Given the description of an element on the screen output the (x, y) to click on. 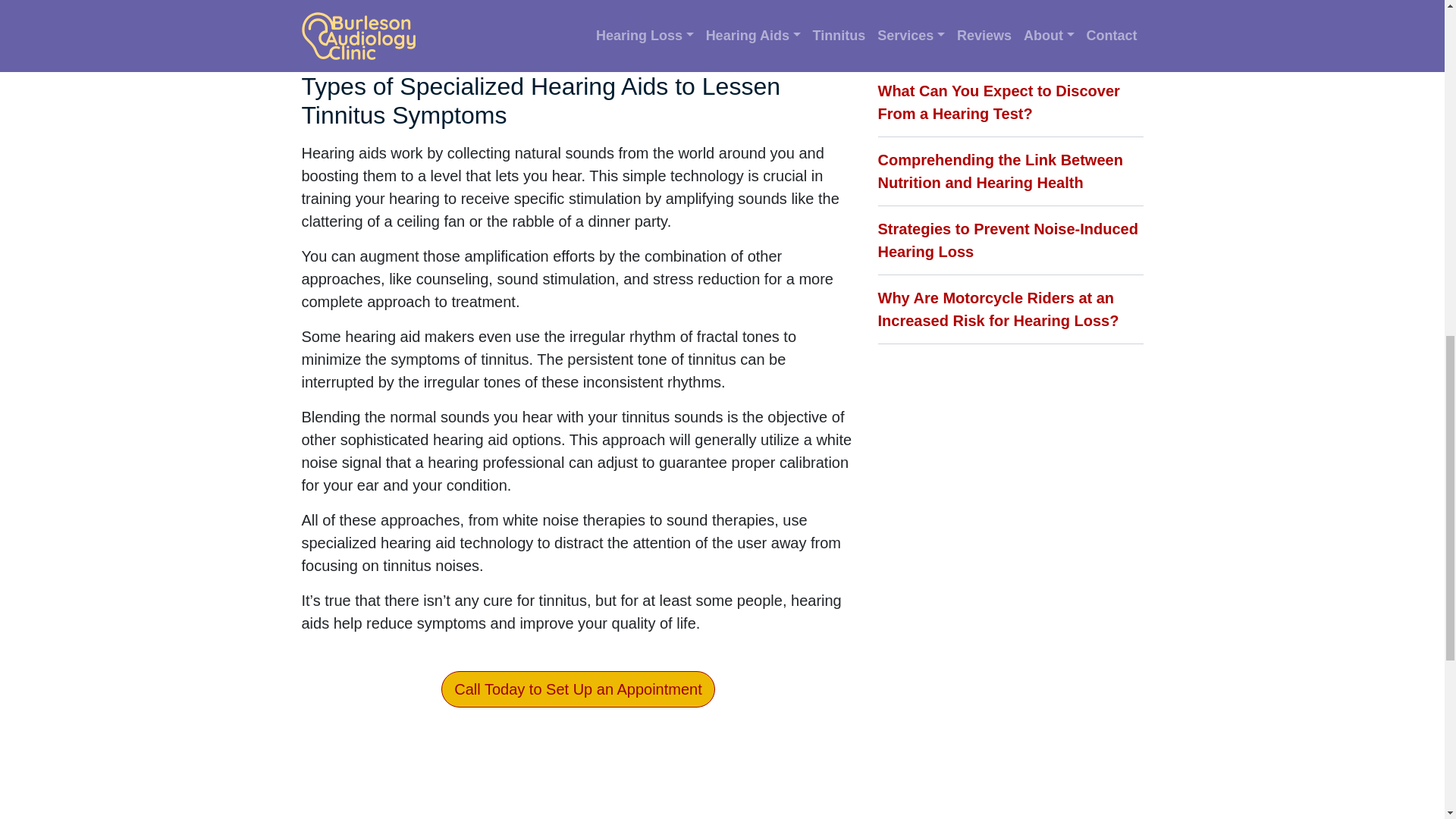
Can Your Lifespan be Affected by Hearing Loss? (997, 33)
Call Today to Set Up an Appointment (577, 688)
What Can You Expect to Discover From a Hearing Test? (998, 102)
